Given the description of an element on the screen output the (x, y) to click on. 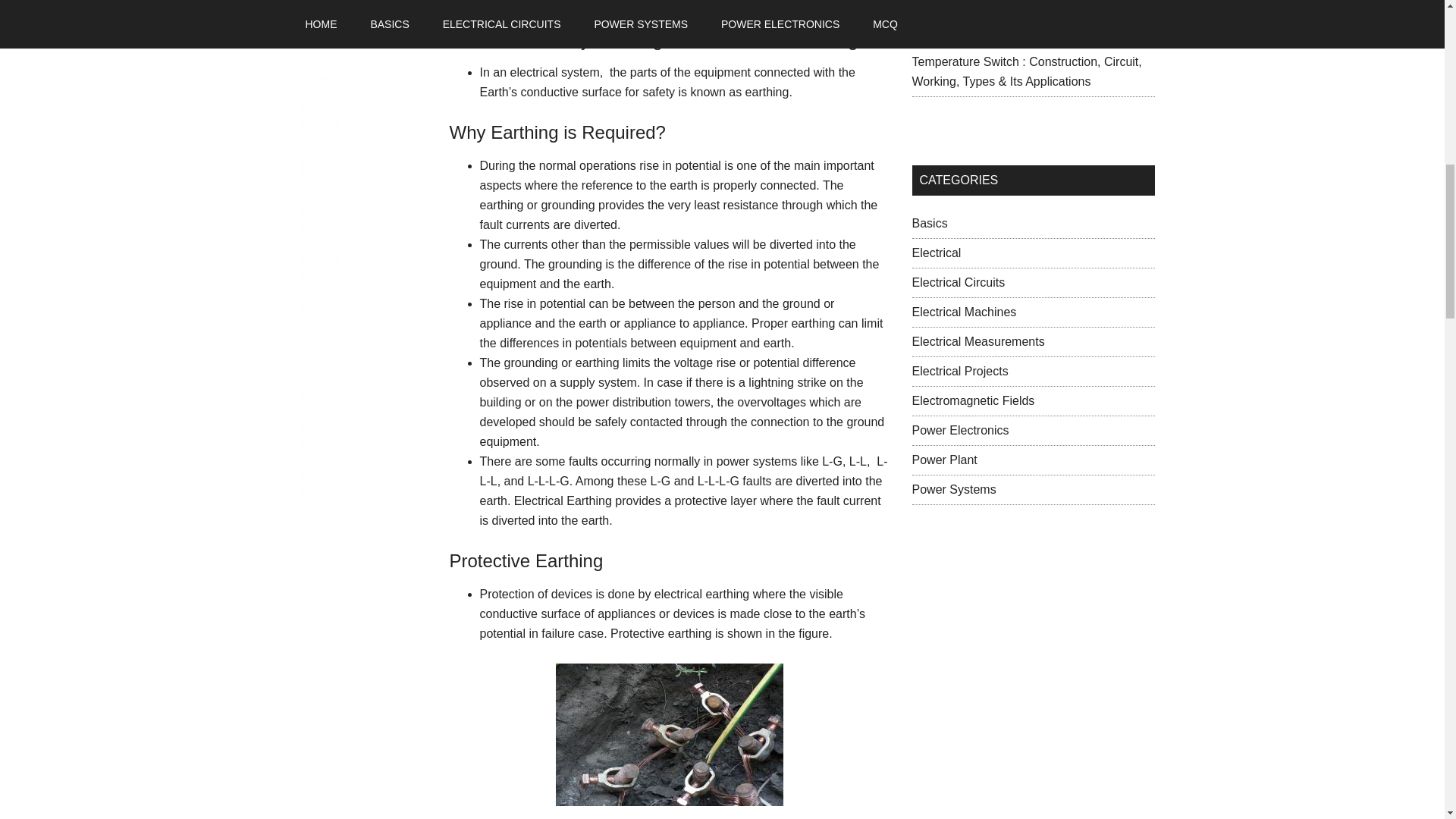
Electrical Projects (959, 370)
Electrical (935, 252)
Basics (929, 223)
Electrical Machines (963, 311)
Electromagnetic Fields (972, 400)
Power Systems (953, 489)
Electrical Circuits (957, 282)
Power Electronics (960, 430)
Power Plant (943, 459)
Electrical Measurements (977, 341)
